Given the description of an element on the screen output the (x, y) to click on. 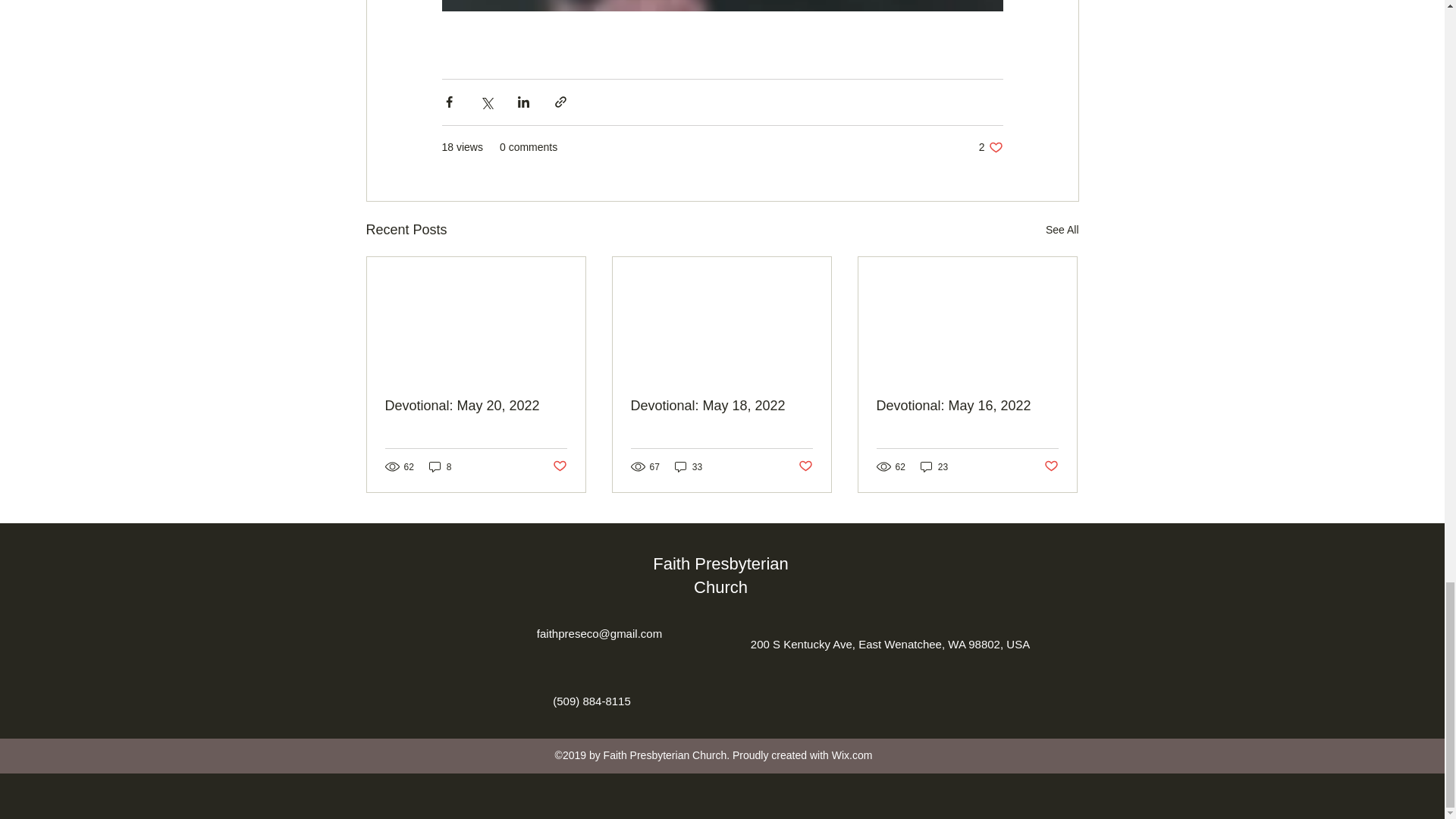
Devotional: May 18, 2022 (721, 406)
Post not marked as liked (558, 466)
Faith Presbyterian Church (720, 575)
23 (933, 466)
33 (687, 466)
Post not marked as liked (1050, 466)
8 (440, 466)
Devotional: May 16, 2022 (990, 147)
See All (967, 406)
Post not marked as liked (1061, 229)
Devotional: May 20, 2022 (804, 466)
